Given the description of an element on the screen output the (x, y) to click on. 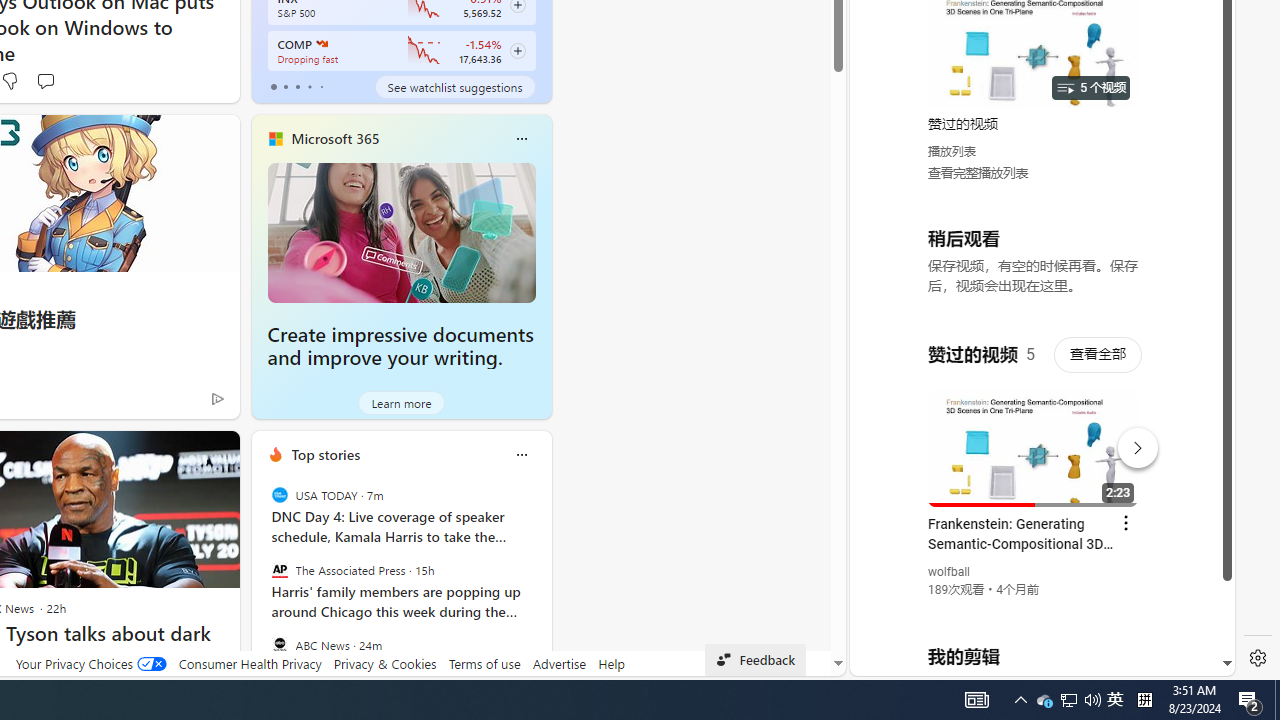
See watchlist suggestions (454, 86)
tab-4 (320, 86)
Create impressive documents and improve your writing. (401, 232)
ABC News (279, 644)
tab-3 (309, 86)
Class: dict_pnIcon rms_img (1028, 660)
The Associated Press (279, 570)
